Given the description of an element on the screen output the (x, y) to click on. 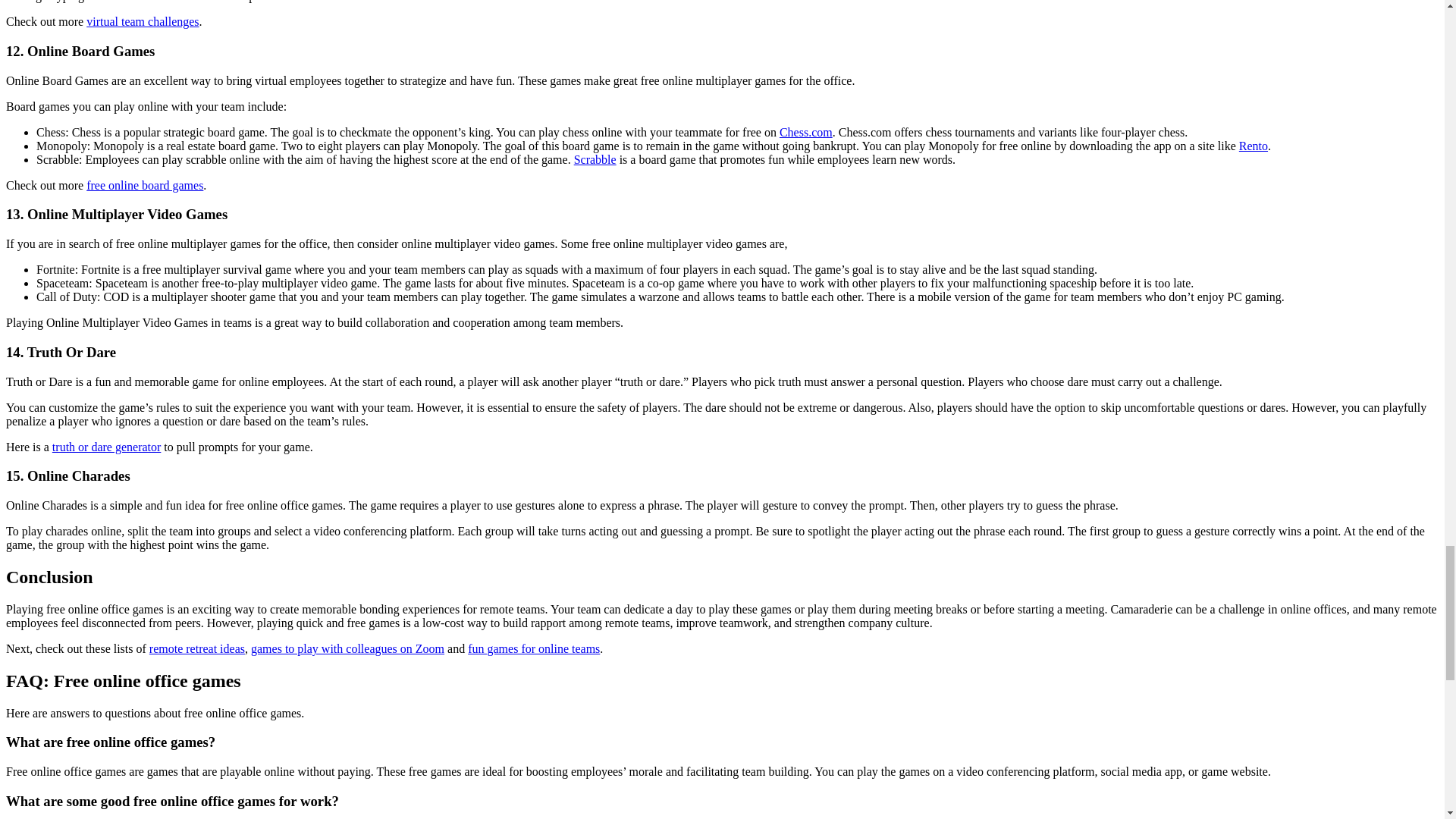
games to play with colleagues on Zoom (347, 648)
Chess.com (805, 132)
Scrabble (594, 159)
fun games for online teams (533, 648)
free online board games (144, 185)
truth or dare generator (106, 446)
remote retreat ideas (196, 648)
Rento (1253, 145)
virtual team challenges (141, 21)
